Given the description of an element on the screen output the (x, y) to click on. 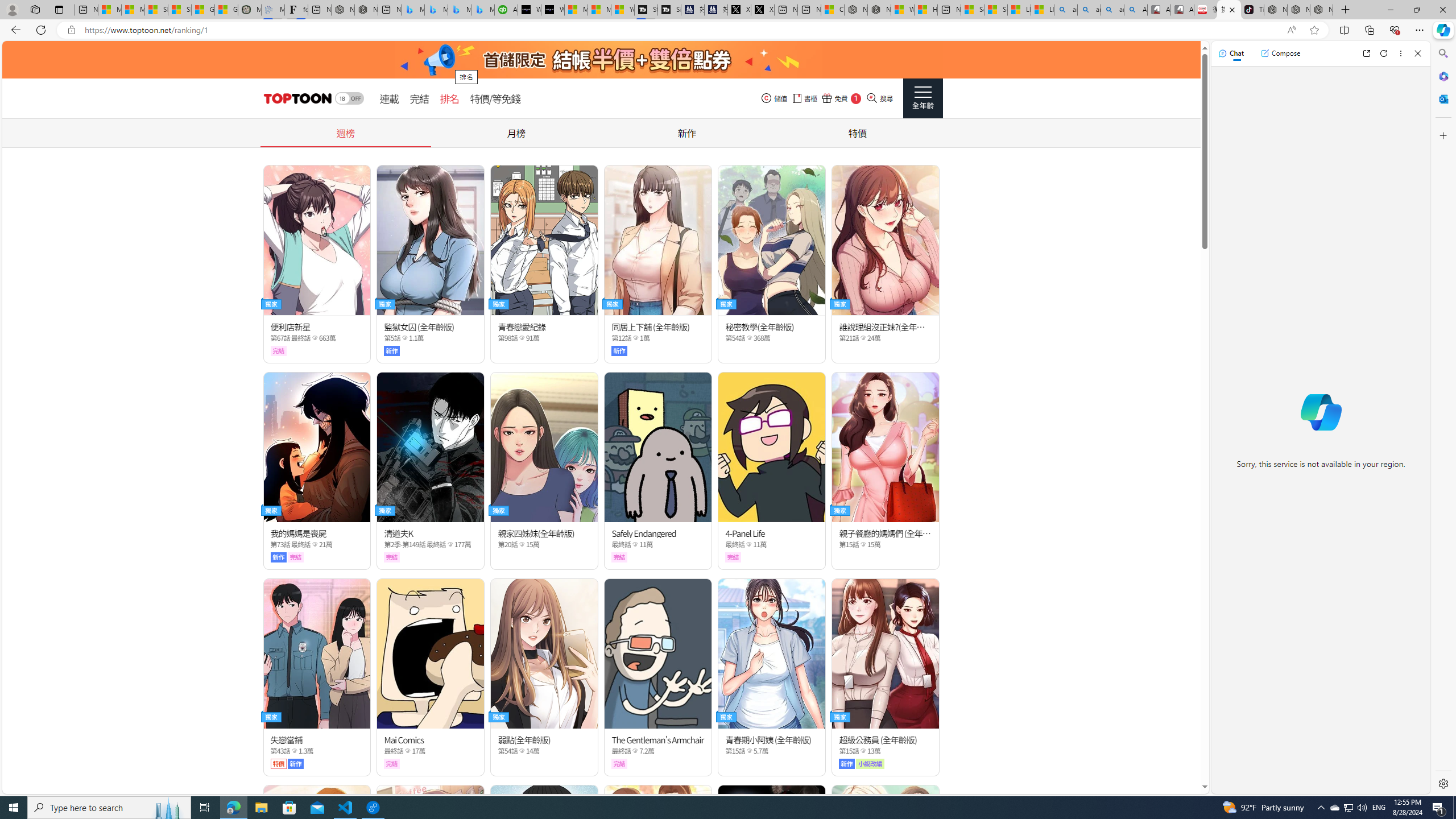
header (295, 97)
Class:  switch_18mode actionAdultBtn (349, 97)
